Given the description of an element on the screen output the (x, y) to click on. 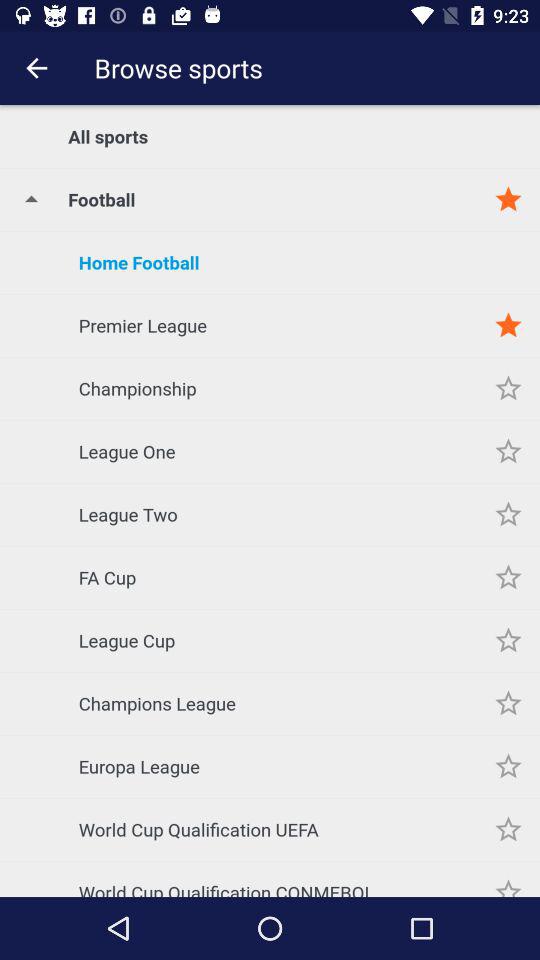
favorite league two (508, 514)
